Given the description of an element on the screen output the (x, y) to click on. 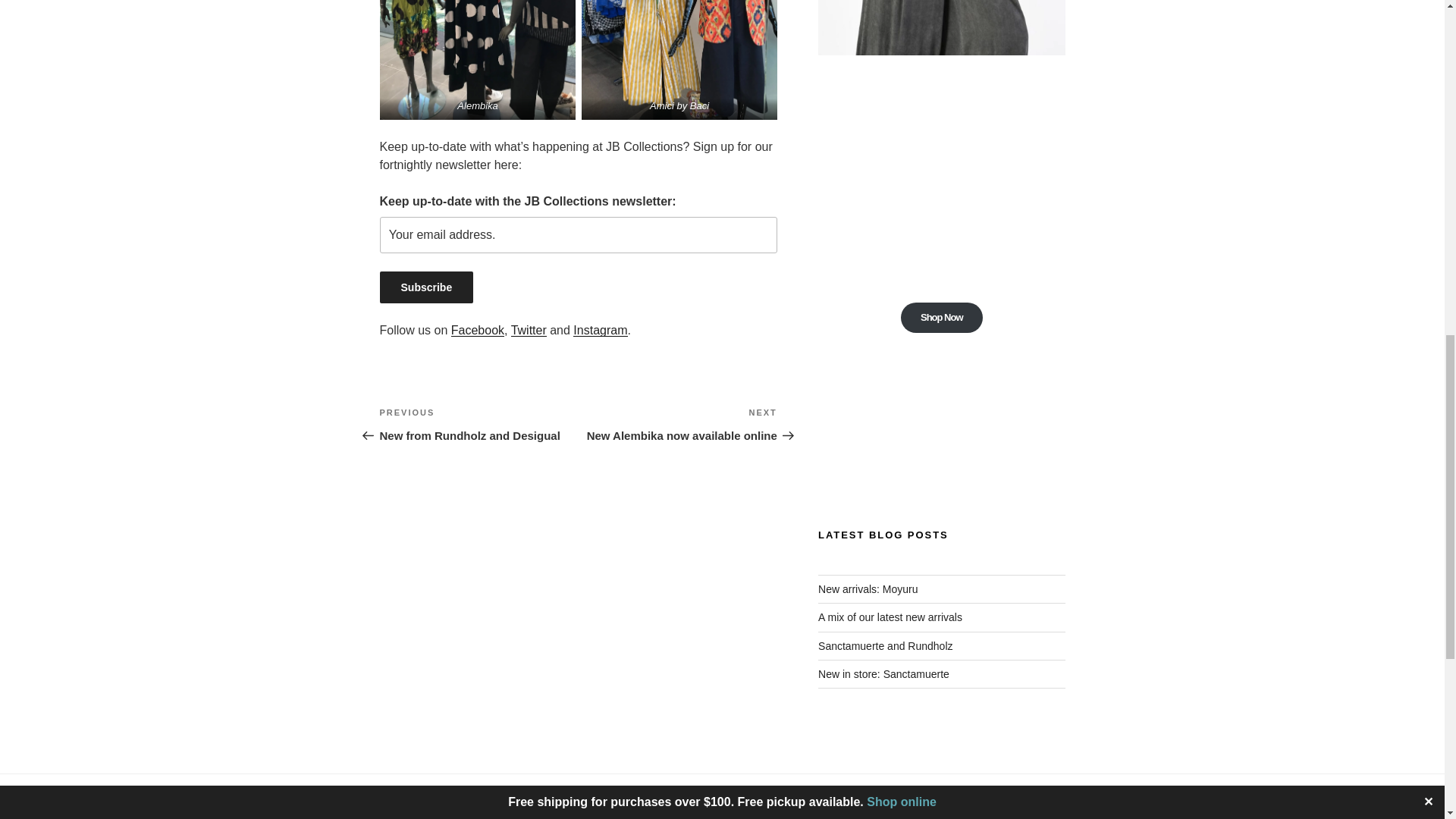
Subscribe (425, 287)
Subscribe (425, 287)
Instagram (600, 329)
Twitter (529, 329)
Facebook (477, 329)
